Given the description of an element on the screen output the (x, y) to click on. 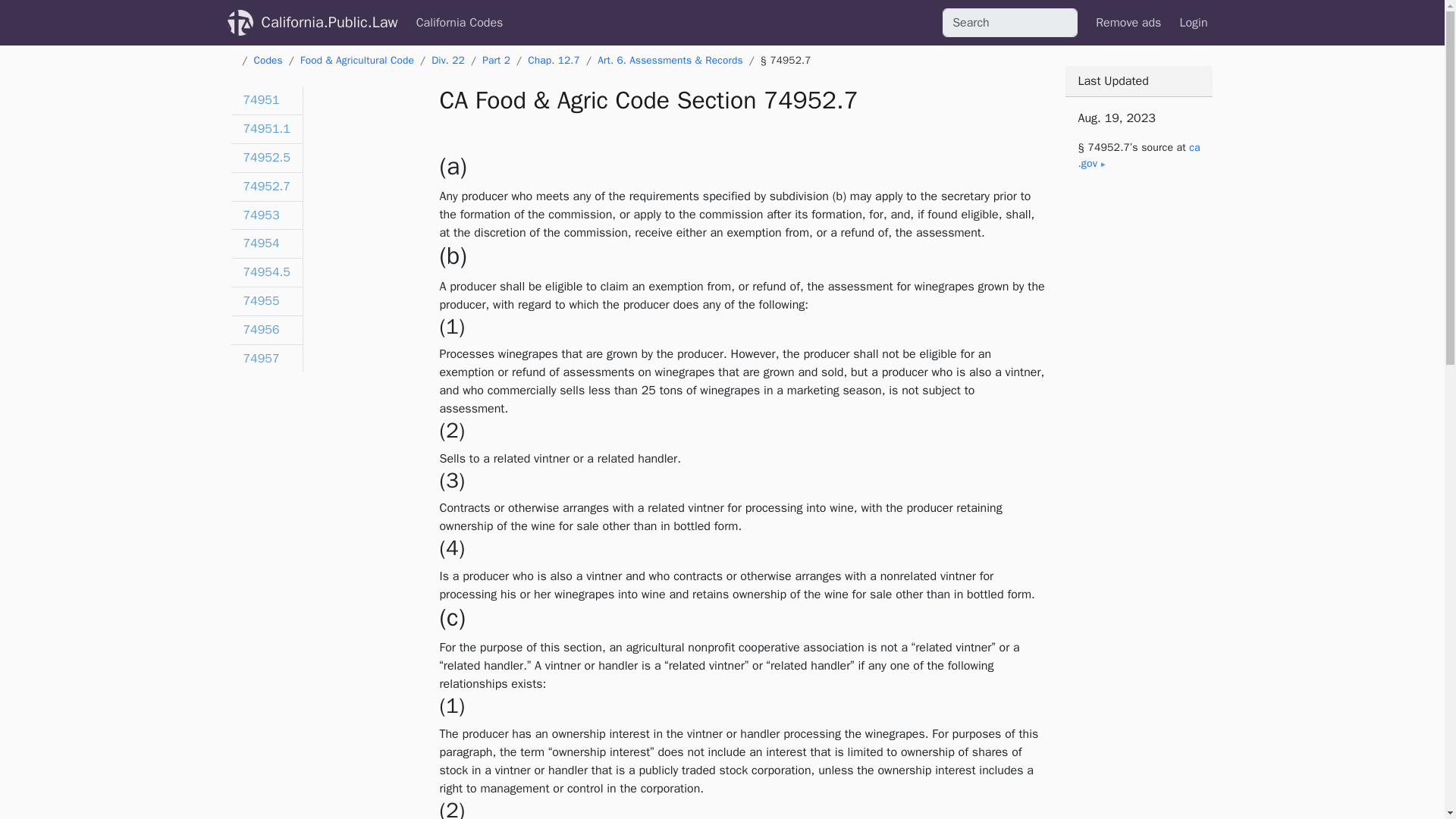
Chap. 12.7 (553, 60)
Div. 22 (447, 60)
California Codes (459, 22)
California.Public.Law (328, 22)
Codes (267, 60)
ca.gov (1138, 154)
74956 (265, 330)
Advertisement (1138, 434)
74951 (265, 100)
74954 (265, 244)
74957 (265, 358)
Advertisement (1138, 758)
74951.1 (265, 129)
Remove ads (1128, 22)
